Given the description of an element on the screen output the (x, y) to click on. 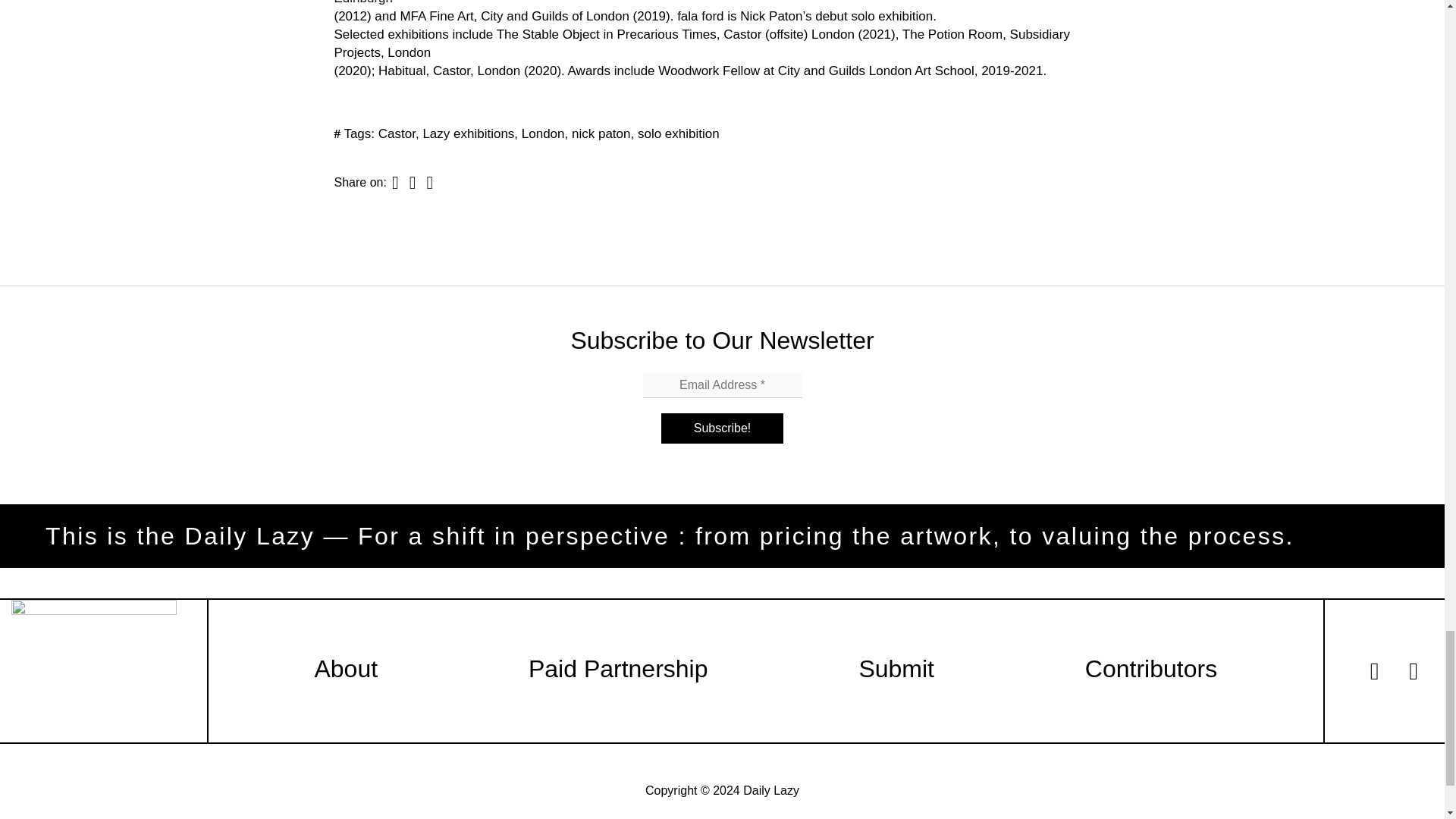
Subscribe! (722, 428)
Email Address (722, 385)
